Given the description of an element on the screen output the (x, y) to click on. 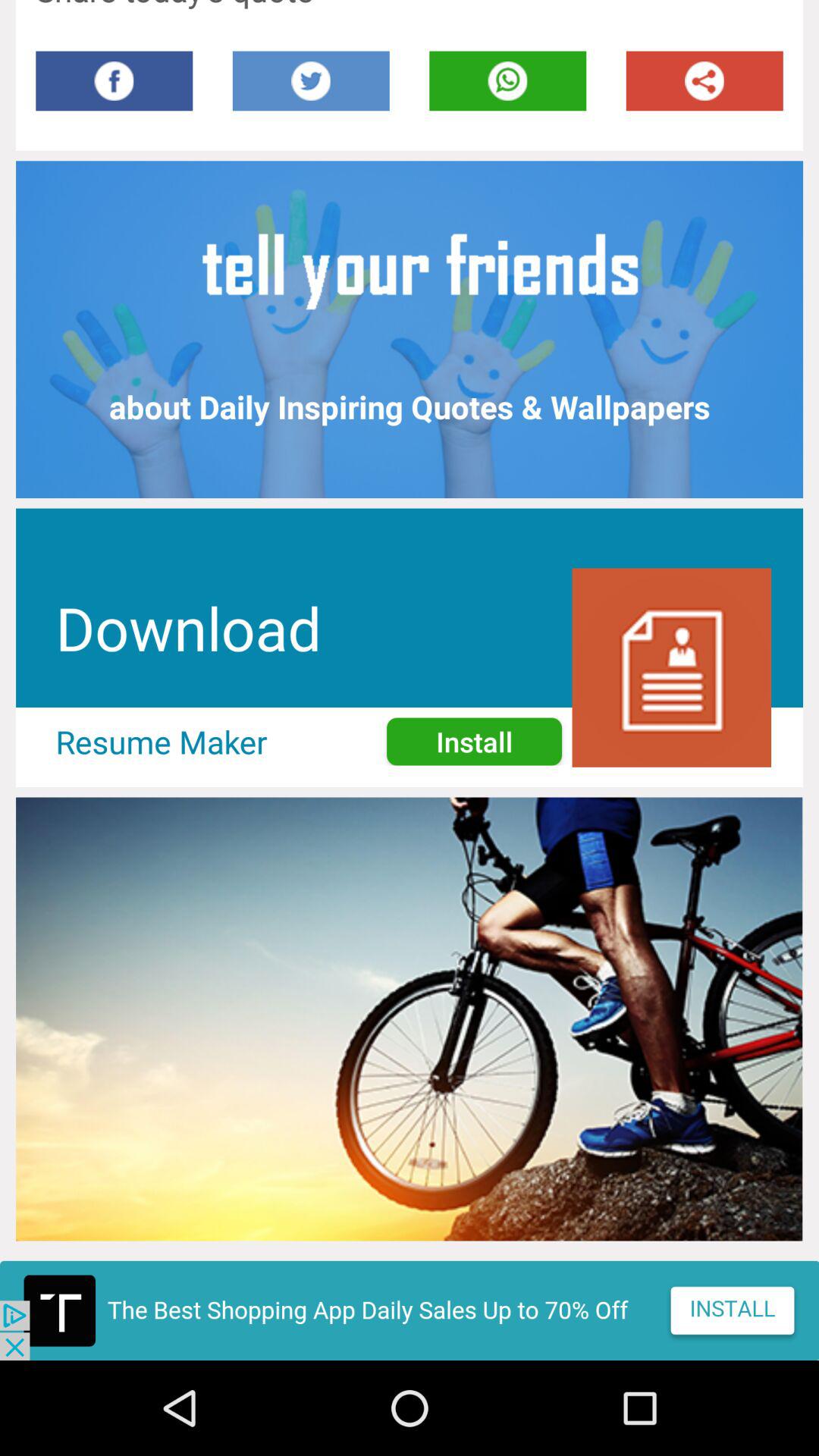
use whatsapp (507, 80)
